Given the description of an element on the screen output the (x, y) to click on. 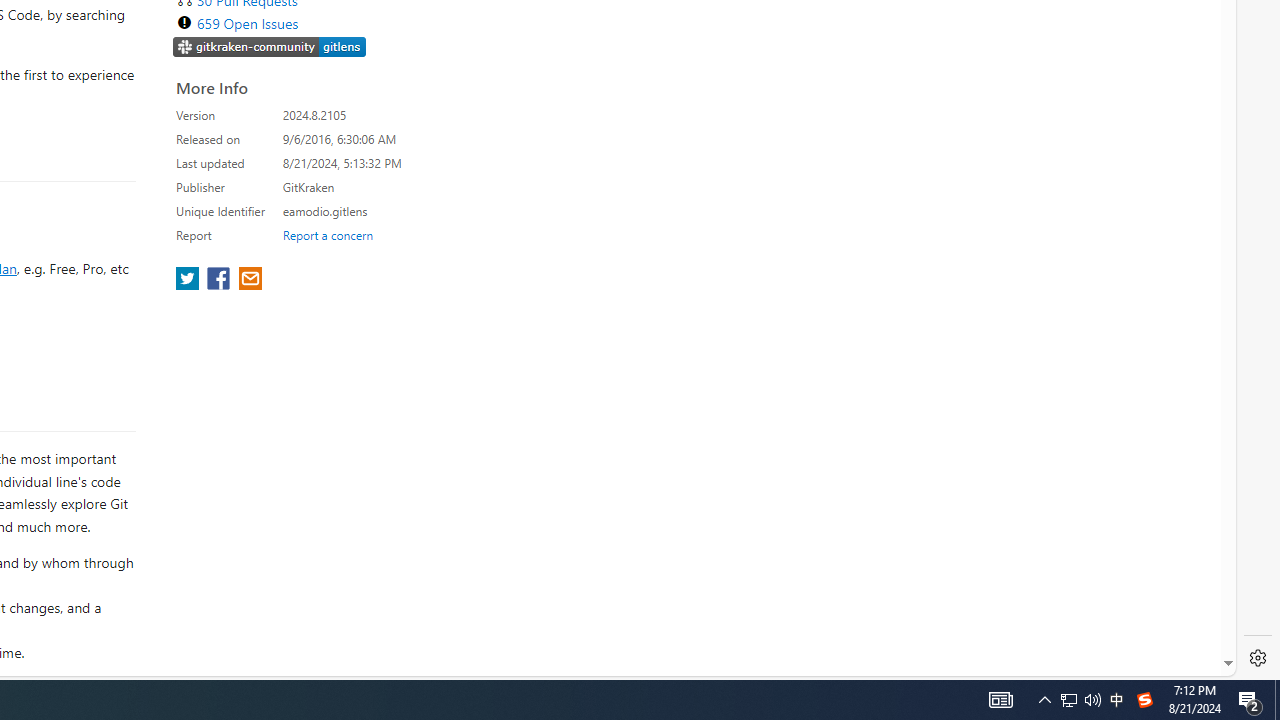
share extension on email (249, 280)
share extension on facebook (220, 280)
https://slack.gitkraken.com// (269, 48)
Report a concern (327, 234)
share extension on twitter (190, 280)
https://slack.gitkraken.com// (269, 46)
